Given the description of an element on the screen output the (x, y) to click on. 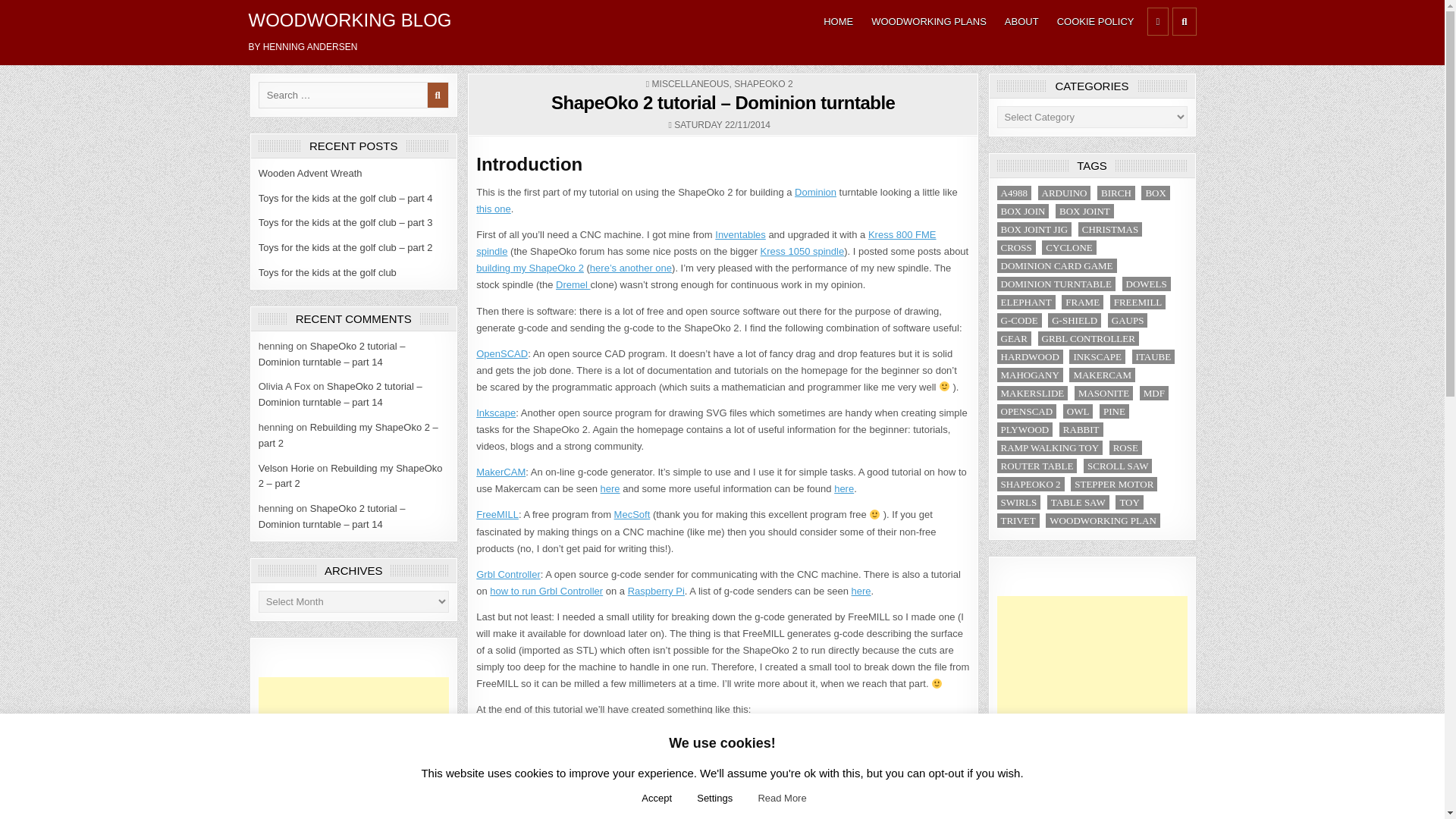
Toys for the kids at the golf club (327, 272)
MISCELLANEOUS (690, 83)
WOODWORKING BLOG (349, 19)
ABOUT (1021, 21)
HOME (837, 21)
WOODWORKING PLANS (928, 21)
building my ShapeOko 2 (529, 267)
Dominion card game (814, 192)
Kress 1050 spindle (802, 251)
COOKIE POLICY (1095, 21)
SHAPEOKO 2 (762, 83)
this one (493, 208)
Kress 800 FME spindle (706, 243)
Homepage of Kress Elektrowerkzeuge (706, 243)
Velson Horie (286, 468)
